Given the description of an element on the screen output the (x, y) to click on. 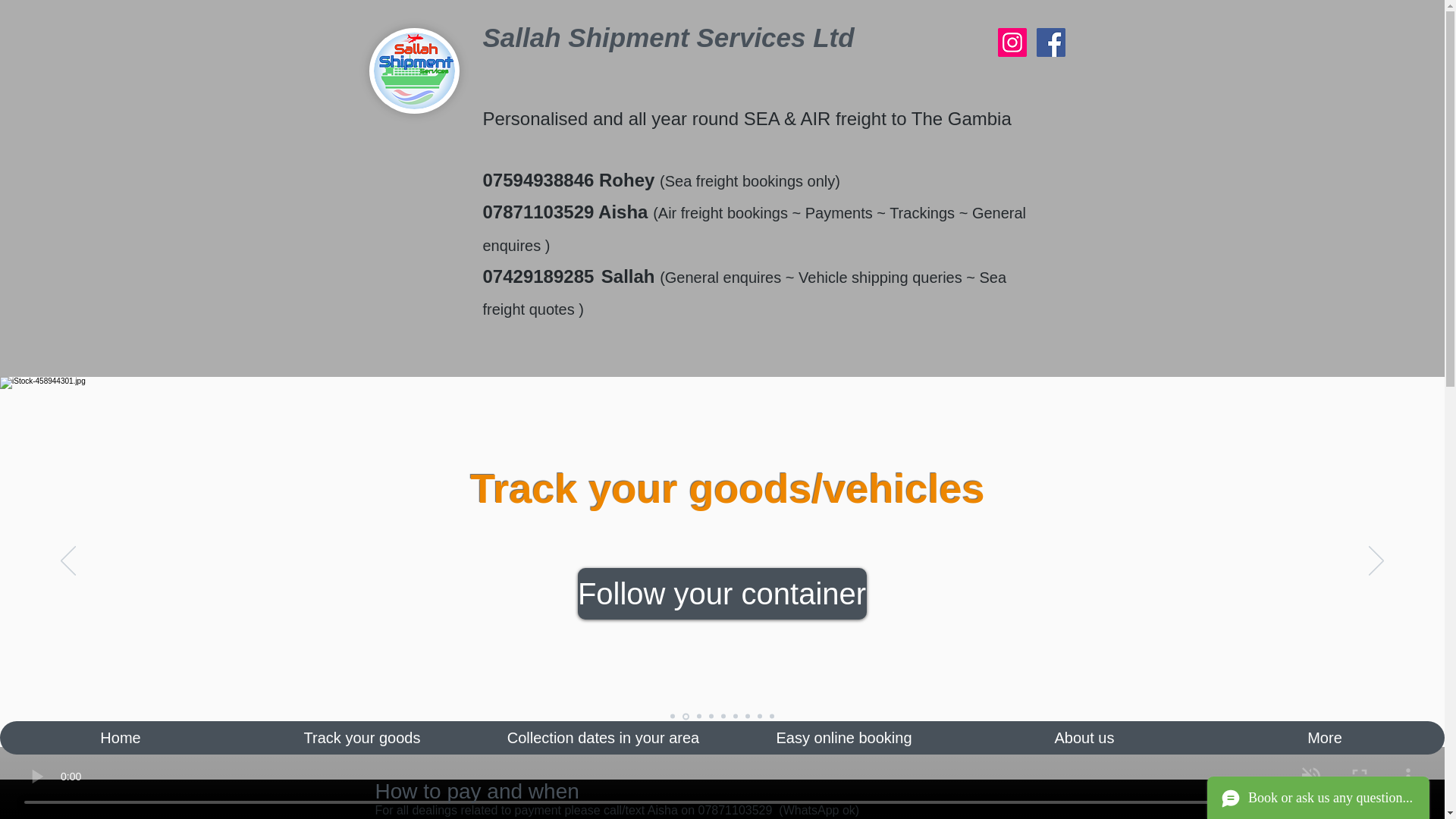
About us (1083, 737)
Track your goods (361, 737)
Easy online booking (843, 737)
Home (120, 737)
Follow your container (722, 593)
Collection dates in your area (602, 737)
